Given the description of an element on the screen output the (x, y) to click on. 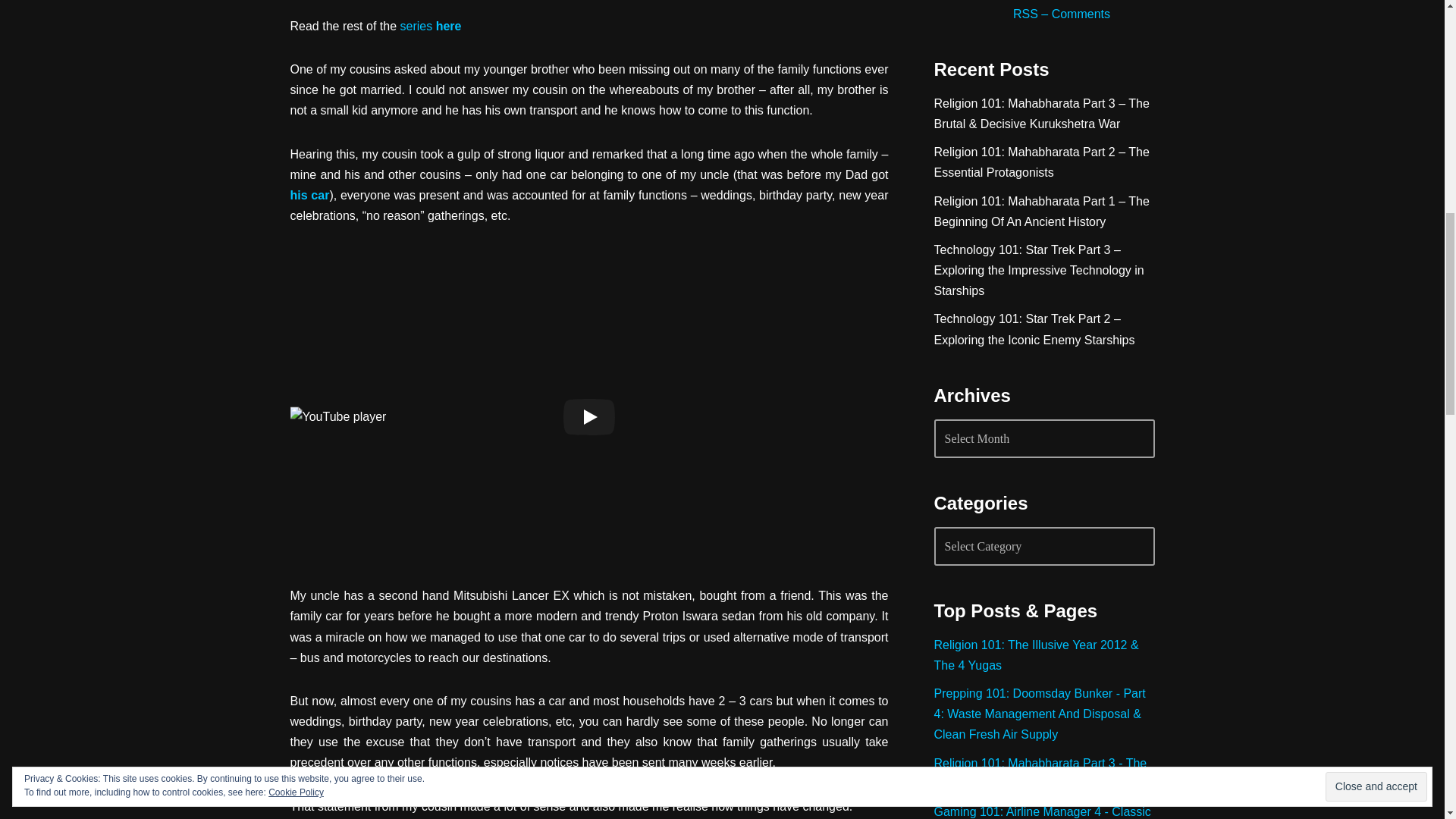
Childhood Memories: Part 19 - Driving My Uncle's Gutsy Car 2 (588, 417)
his car (309, 195)
series (415, 25)
here (448, 25)
